Given the description of an element on the screen output the (x, y) to click on. 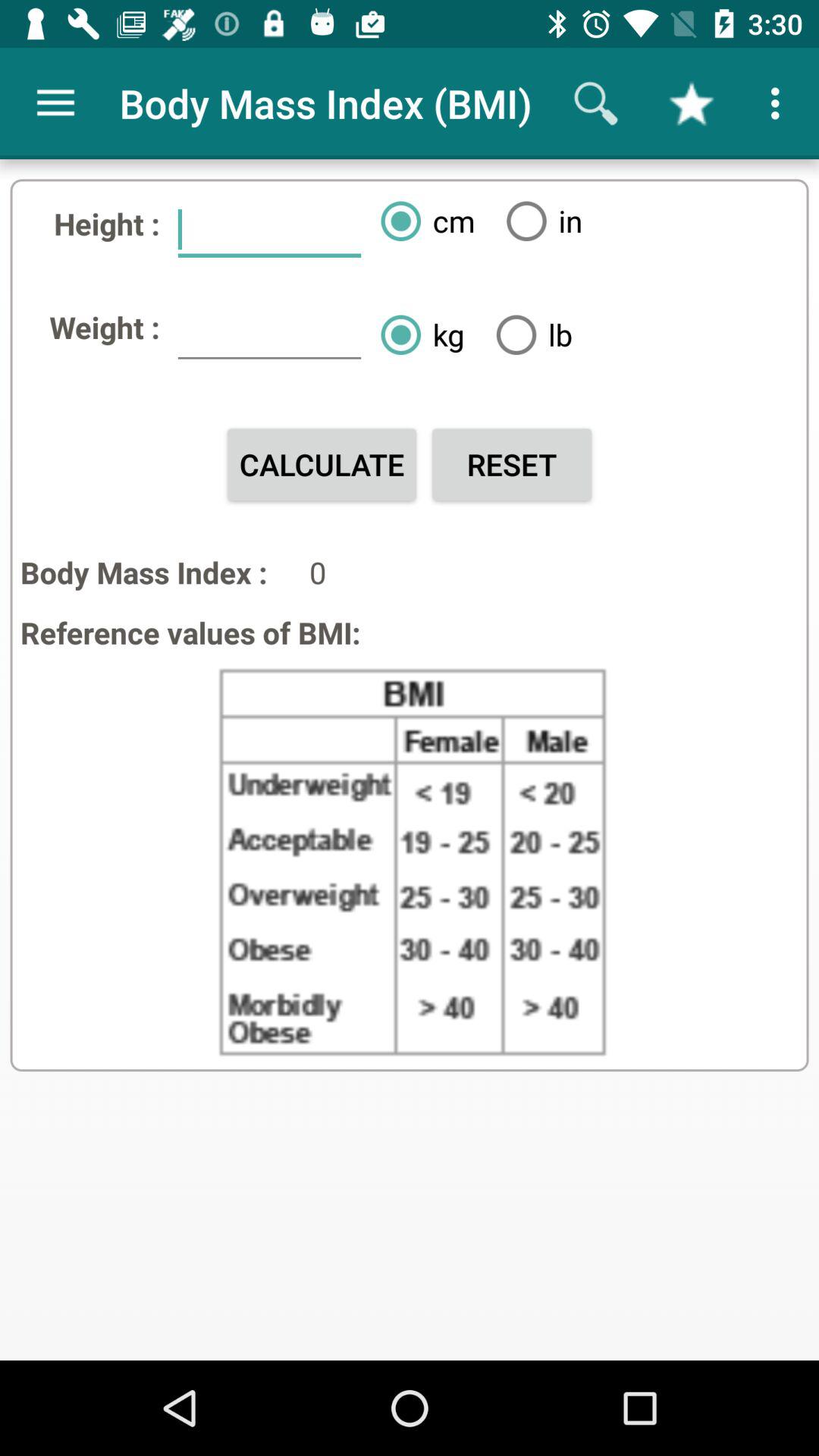
select the item next to height : icon (269, 230)
